Given the description of an element on the screen output the (x, y) to click on. 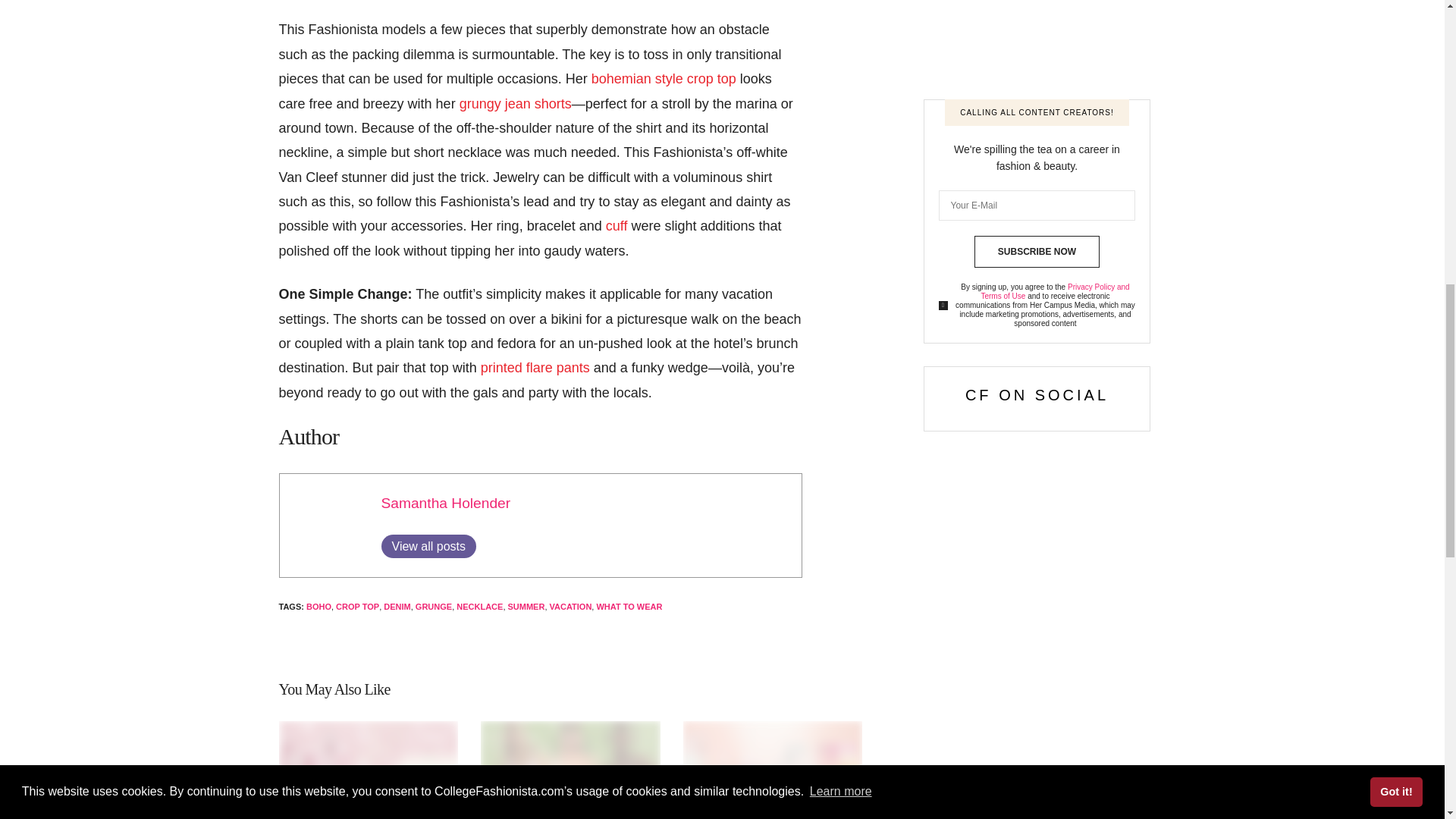
View all posts (428, 545)
bohemian style crop top (663, 78)
WHAT TO WEAR: Vacation 2 (327, 522)
Samantha Holender (445, 503)
grungy jean shorts (516, 103)
printed flare pants (534, 367)
cuff (616, 225)
